Given the description of an element on the screen output the (x, y) to click on. 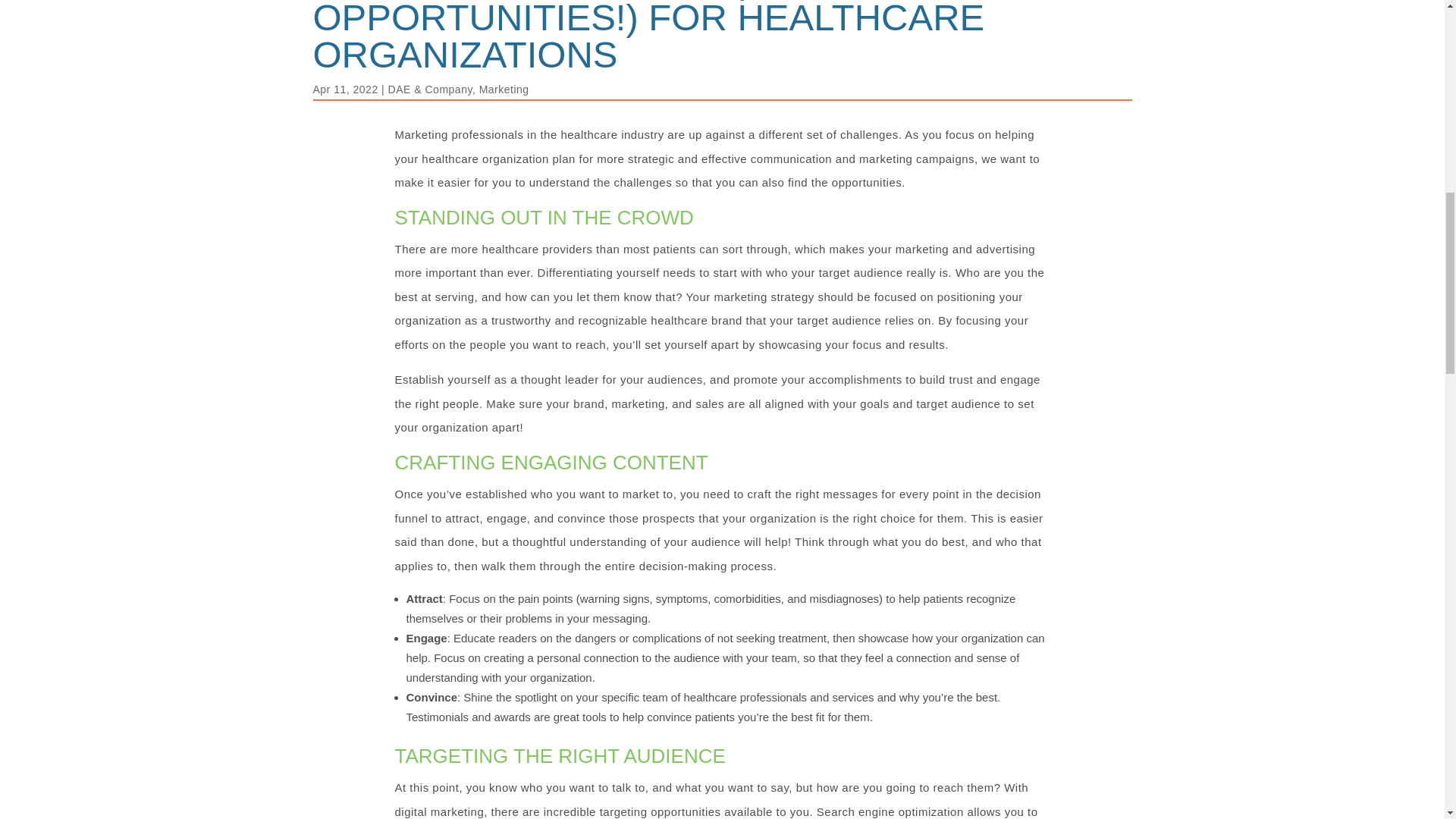
Marketing (504, 89)
